Given the description of an element on the screen output the (x, y) to click on. 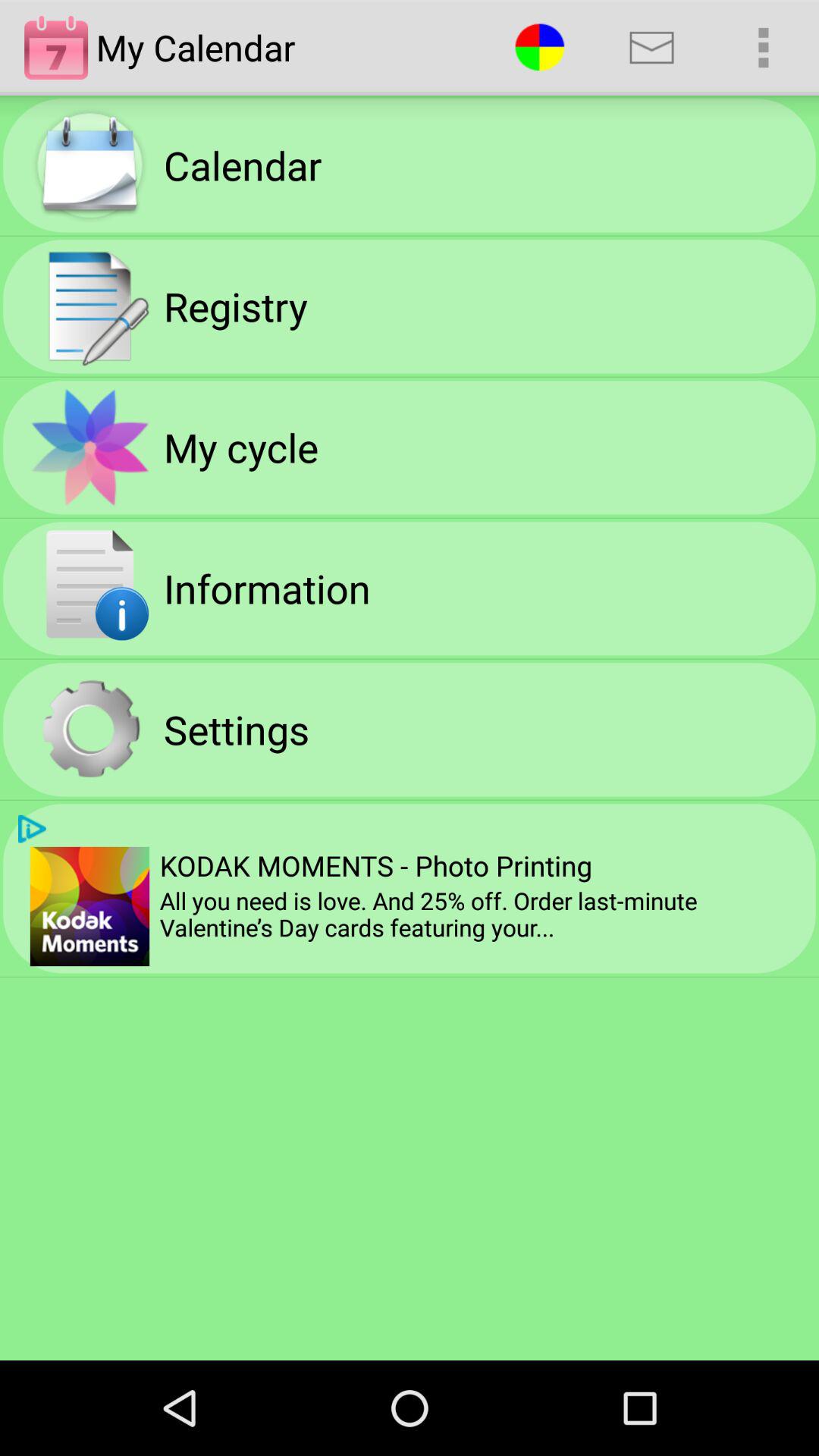
press item above all you need icon (375, 865)
